Given the description of an element on the screen output the (x, y) to click on. 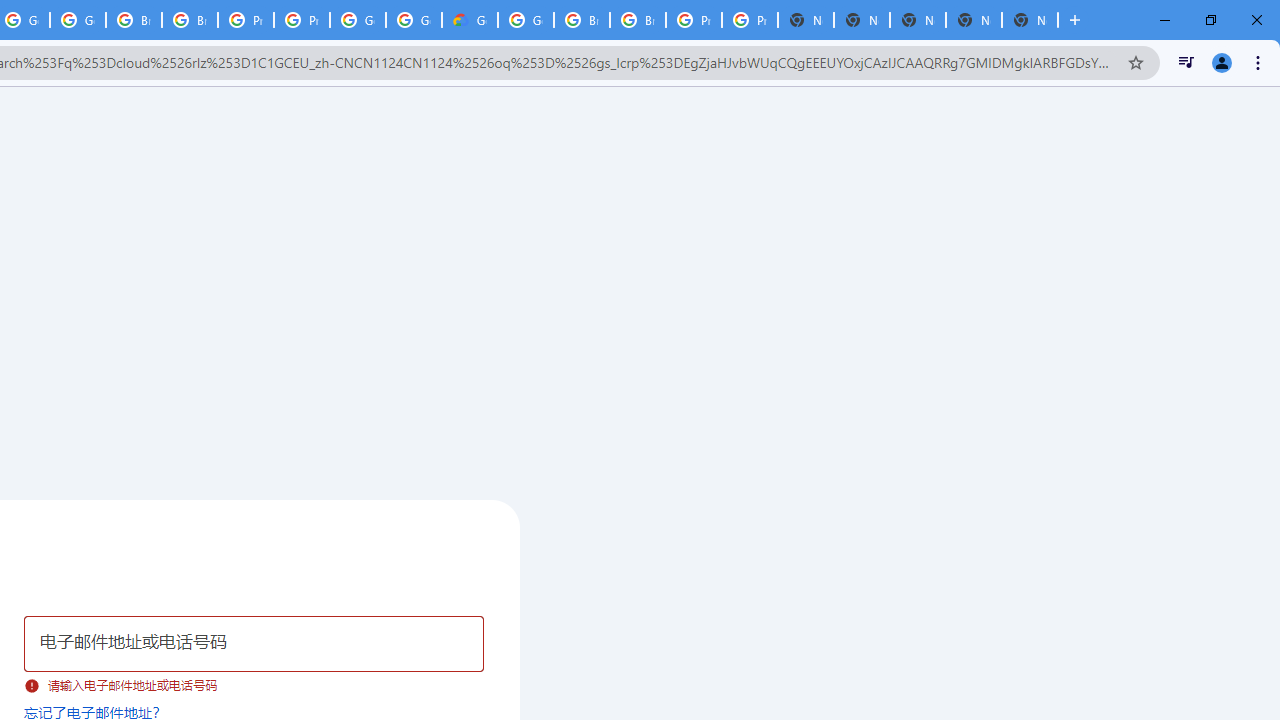
Browse Chrome as a guest - Computer - Google Chrome Help (637, 20)
Google Cloud Estimate Summary (469, 20)
Browse Chrome as a guest - Computer - Google Chrome Help (189, 20)
Google Cloud Platform (525, 20)
Google Cloud Platform (413, 20)
Google Cloud Platform (358, 20)
Browse Chrome as a guest - Computer - Google Chrome Help (134, 20)
